Given the description of an element on the screen output the (x, y) to click on. 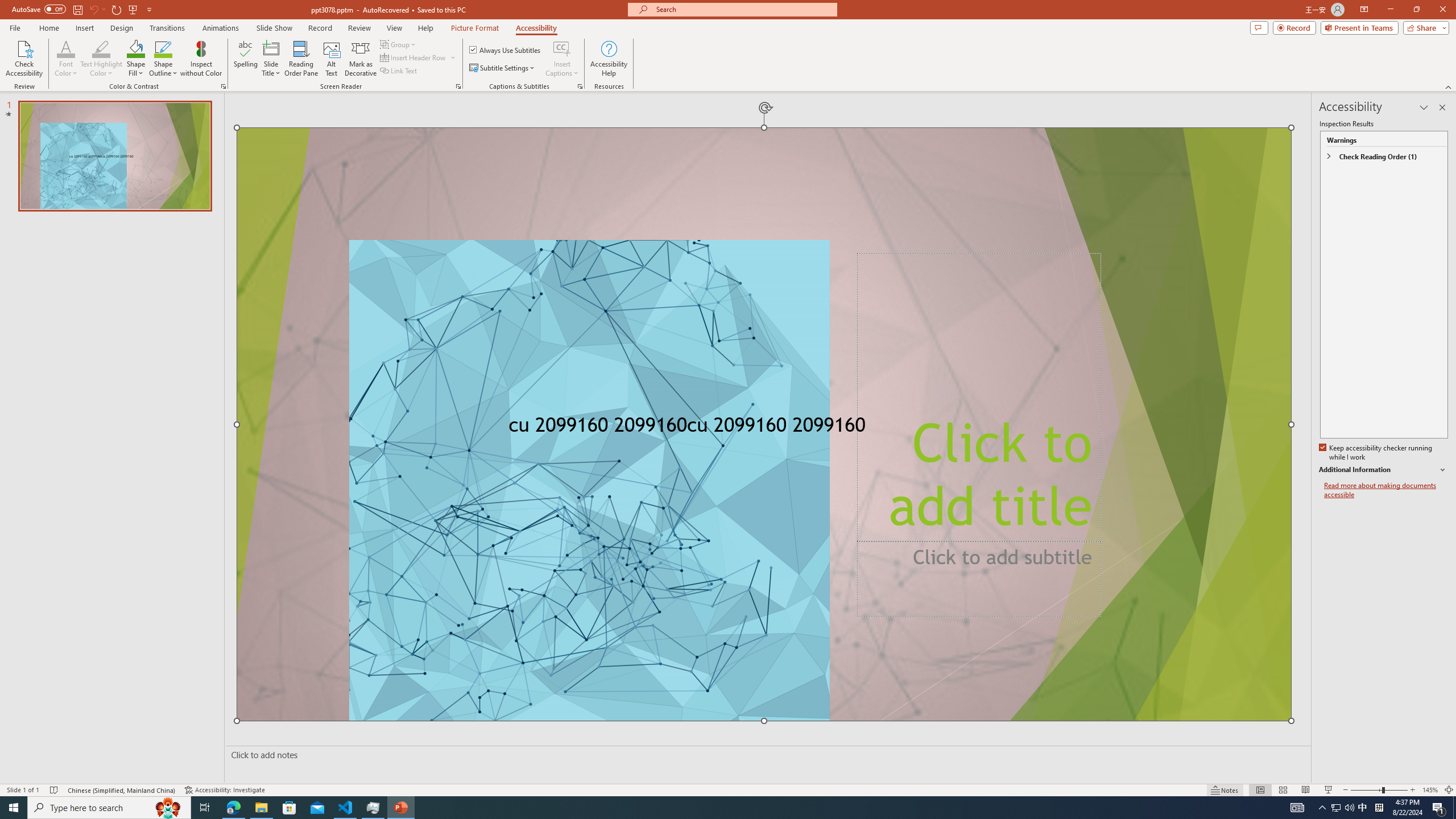
Inspect without Color (201, 58)
